Given the description of an element on the screen output the (x, y) to click on. 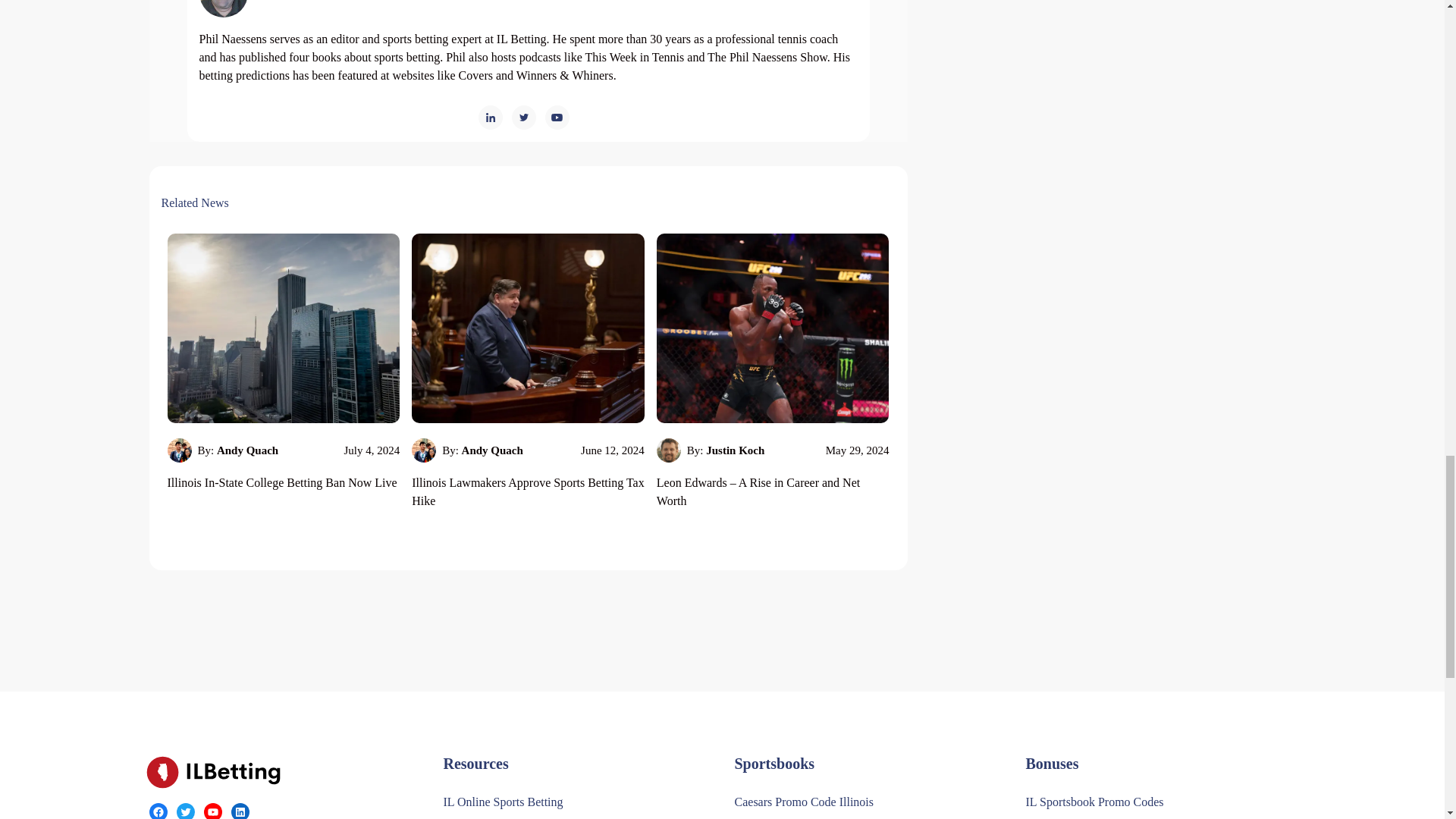
Phil Naessens (304, 9)
Illinois Lawmakers Approve Sports Betting Tax Hike (528, 490)
Illinois In-State College Betting Ban Now Live (281, 481)
